Given the description of an element on the screen output the (x, y) to click on. 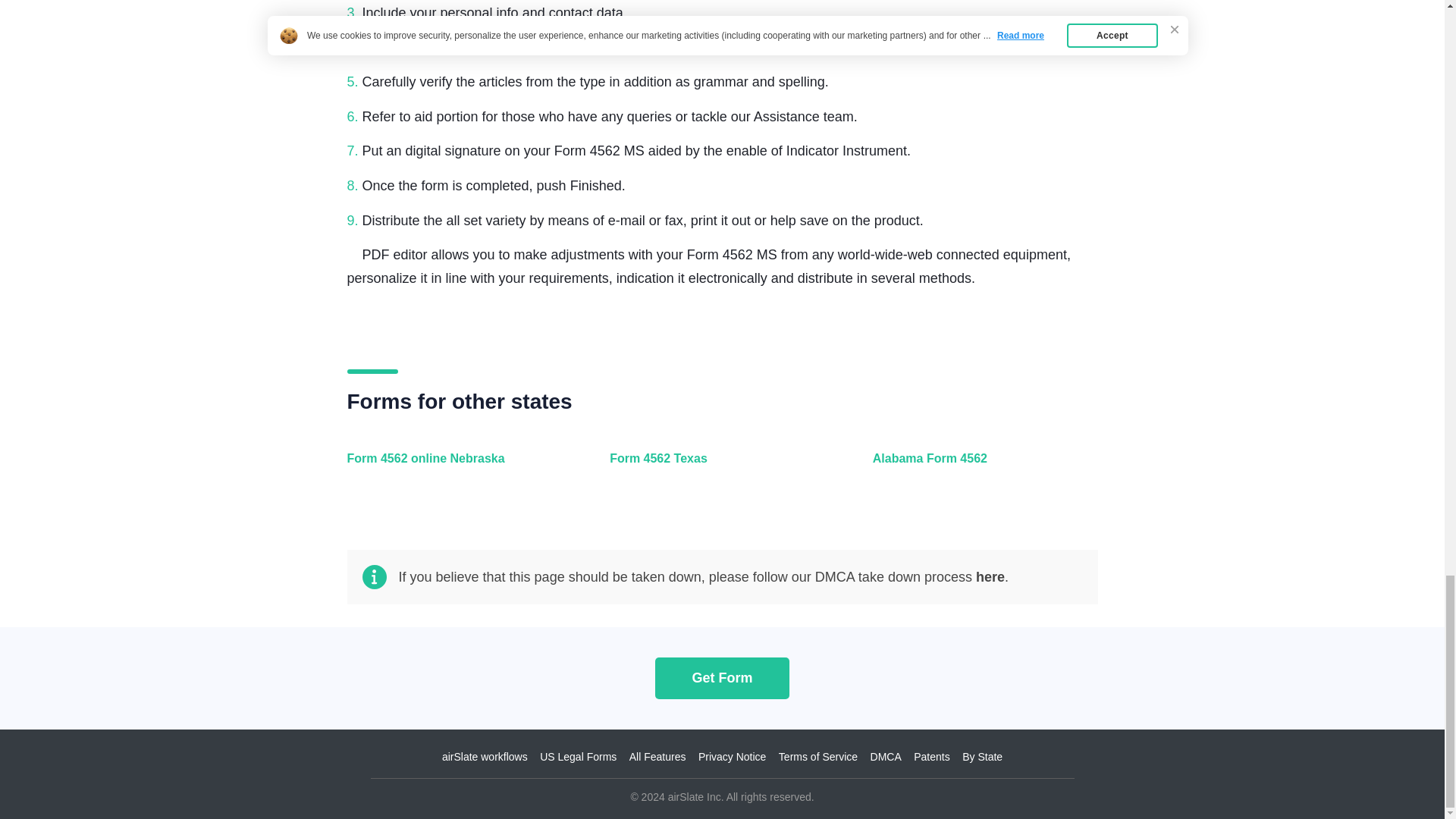
Privacy Notice (731, 756)
All Features (656, 756)
here (989, 576)
Patents (931, 756)
Get Form (722, 677)
airSlate workflows (484, 756)
Form 4562 Texas (718, 466)
US Legal Forms (577, 756)
Alabama Form 4562 (981, 466)
DMCA (885, 756)
Form 4562 online Nebraska (456, 466)
Terms of Service (817, 756)
By State (982, 756)
